Given the description of an element on the screen output the (x, y) to click on. 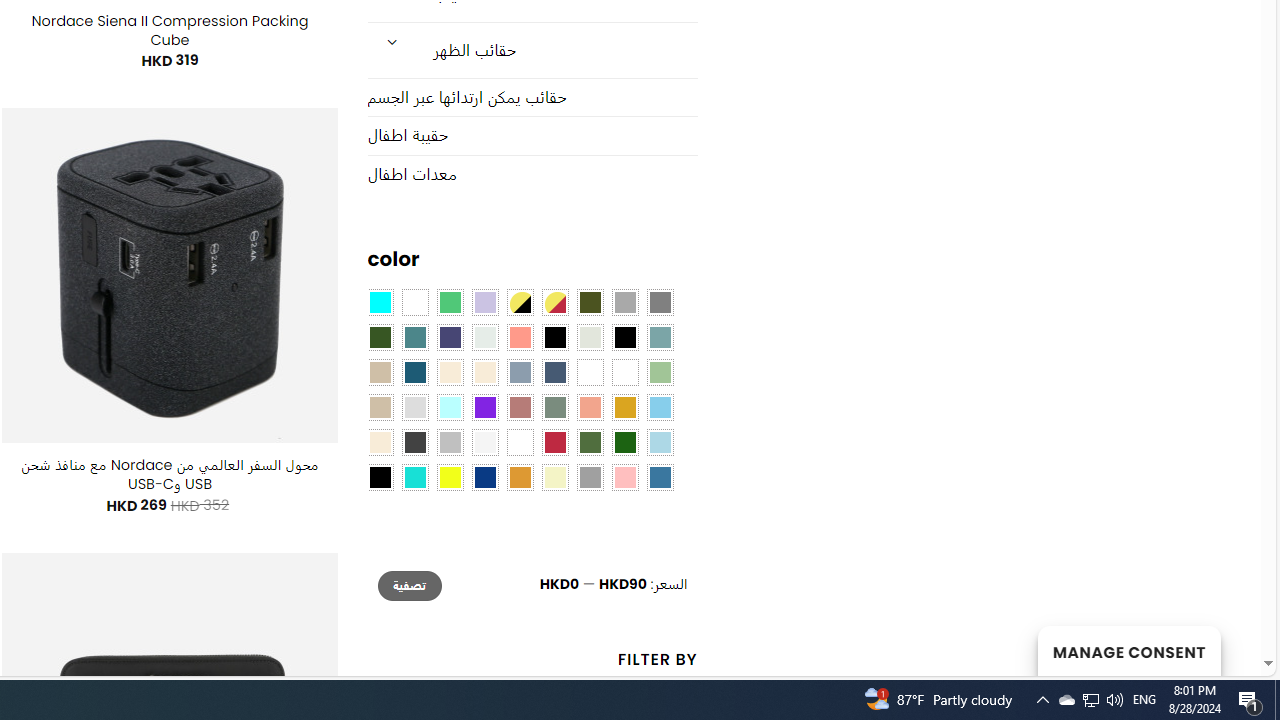
Yellow-Red (554, 303)
Hale Navy (554, 372)
Black-Brown (624, 337)
Yellow-Black (519, 303)
Dusty Blue (519, 372)
MANAGE CONSENT (1128, 650)
Ash Gray (589, 337)
